Given the description of an element on the screen output the (x, y) to click on. 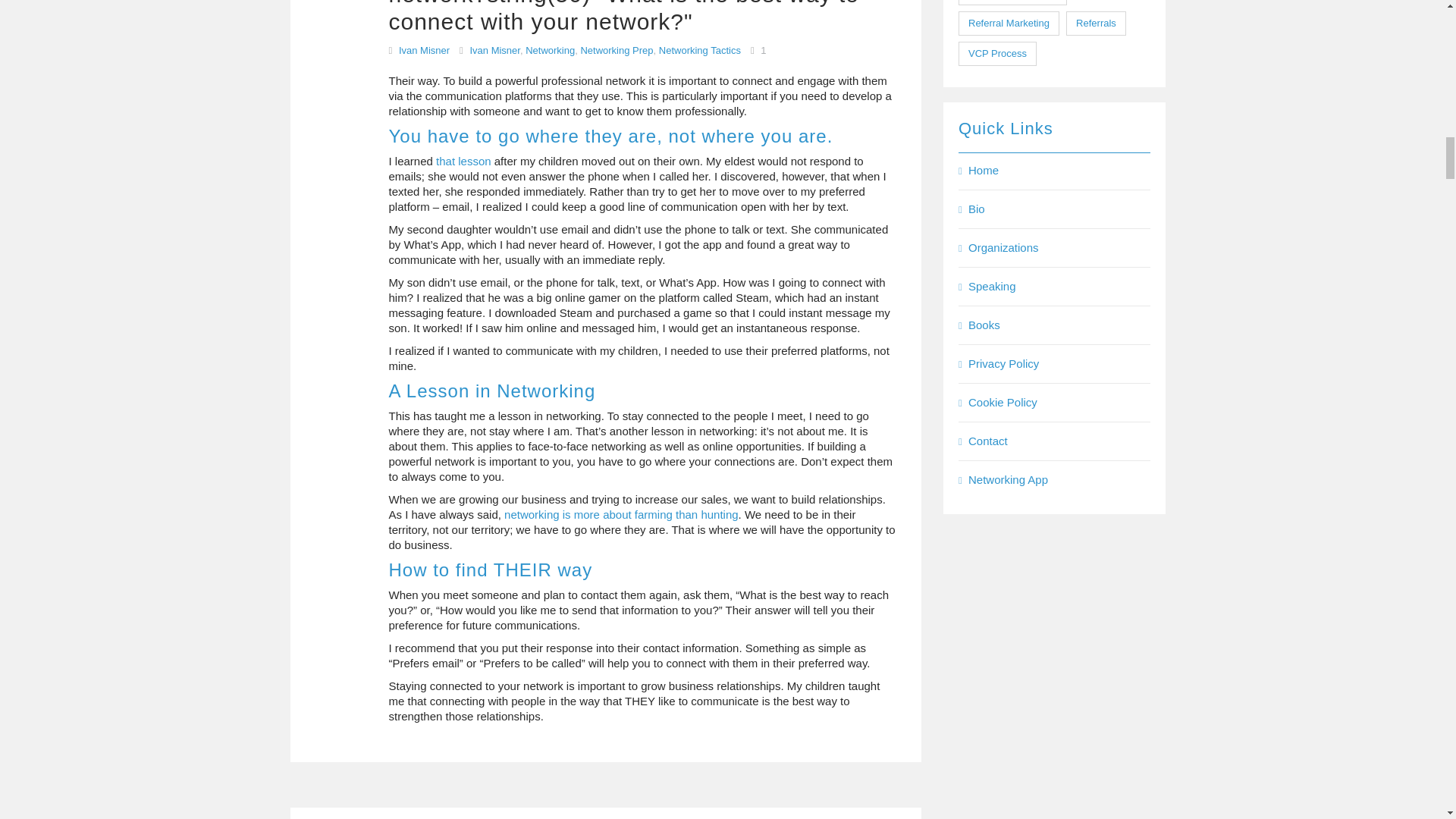
Networking Tactics (700, 50)
Ivan Misner (423, 50)
View all posts by Ivan Misner (423, 50)
Ivan Misner (493, 50)
networking is more about farming than hunting (620, 513)
Networking (550, 50)
that lesson (463, 160)
Networking Prep (615, 50)
